Given the description of an element on the screen output the (x, y) to click on. 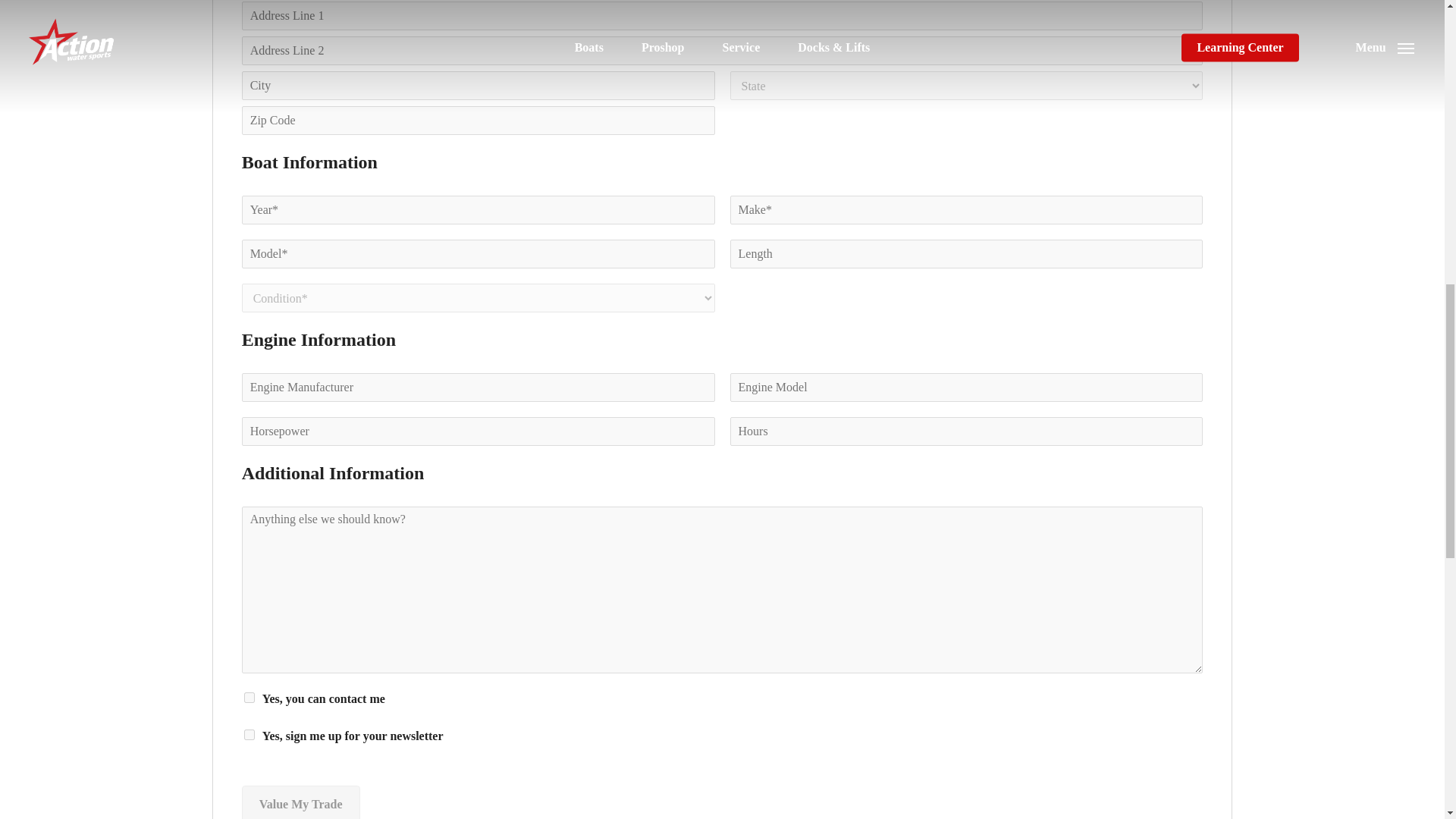
Yes, sign me up for your newsletter (249, 734)
Yes, you can contact me (249, 697)
FareHarbor (1342, 64)
